Given the description of an element on the screen output the (x, y) to click on. 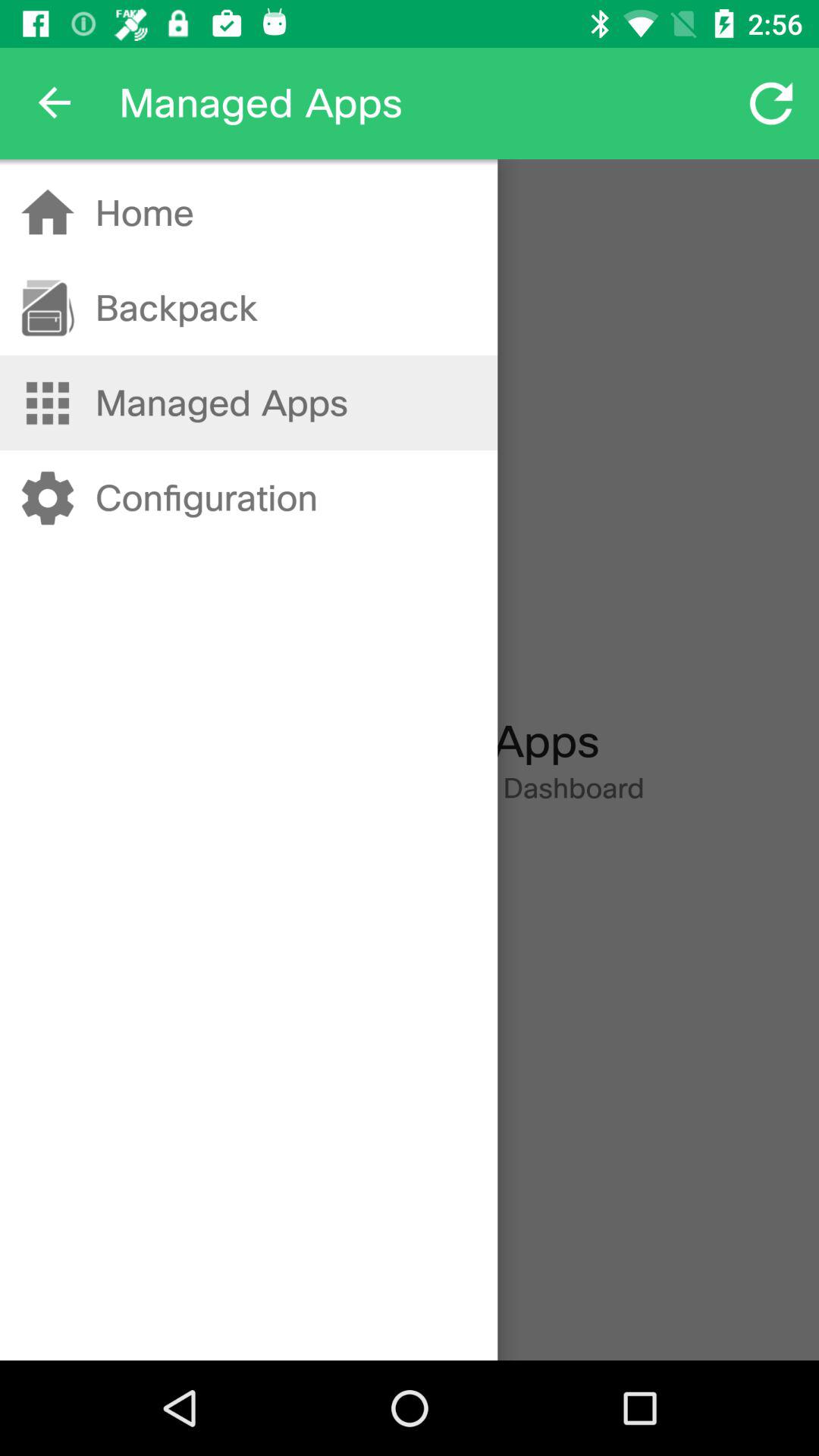
choose the configuration icon (206, 497)
